Given the description of an element on the screen output the (x, y) to click on. 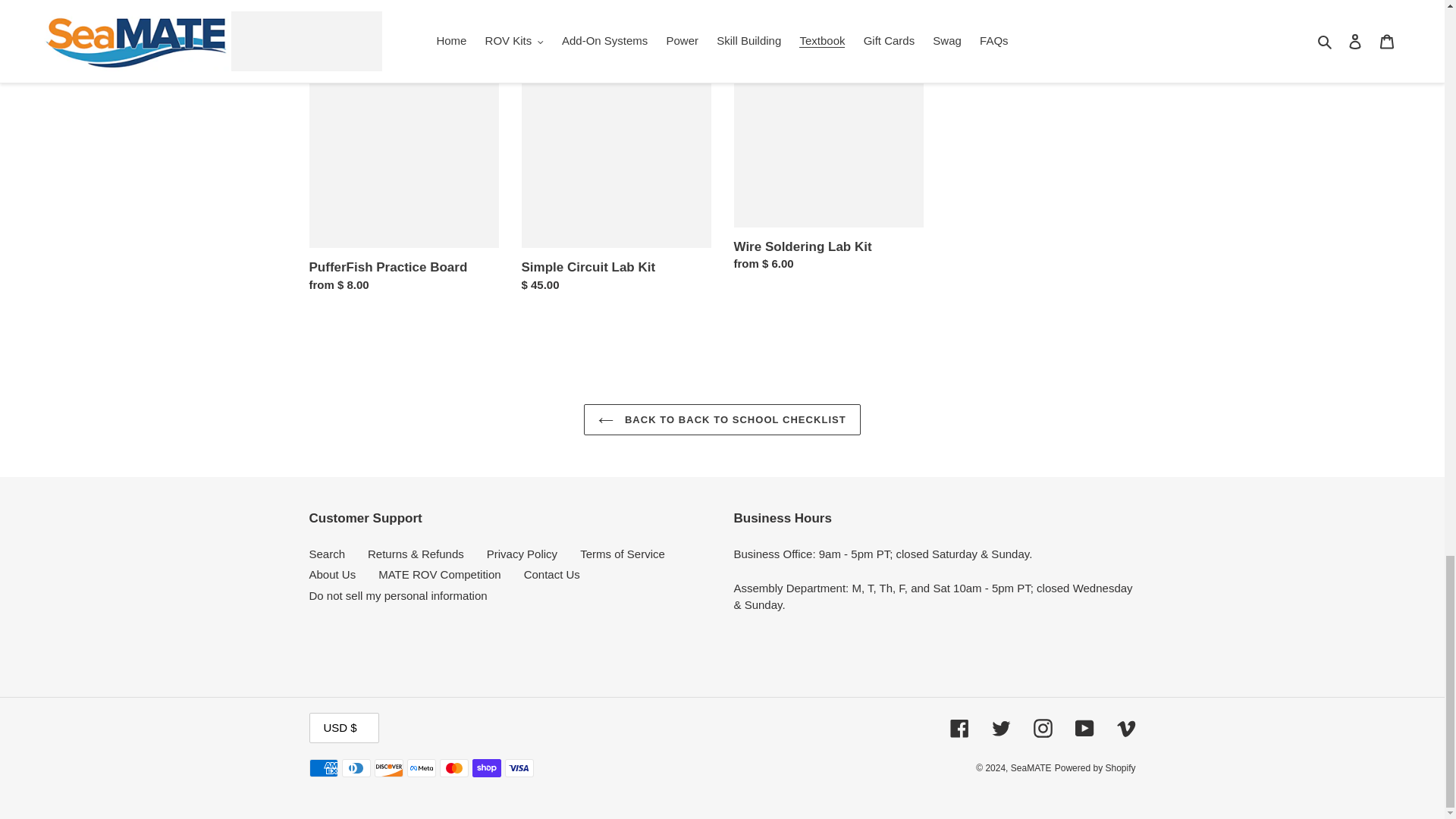
Shop Pay (485, 768)
Diners Club (354, 768)
Discover (388, 768)
Meta Pay (420, 768)
Mastercard (453, 768)
American Express (322, 768)
